Given the description of an element on the screen output the (x, y) to click on. 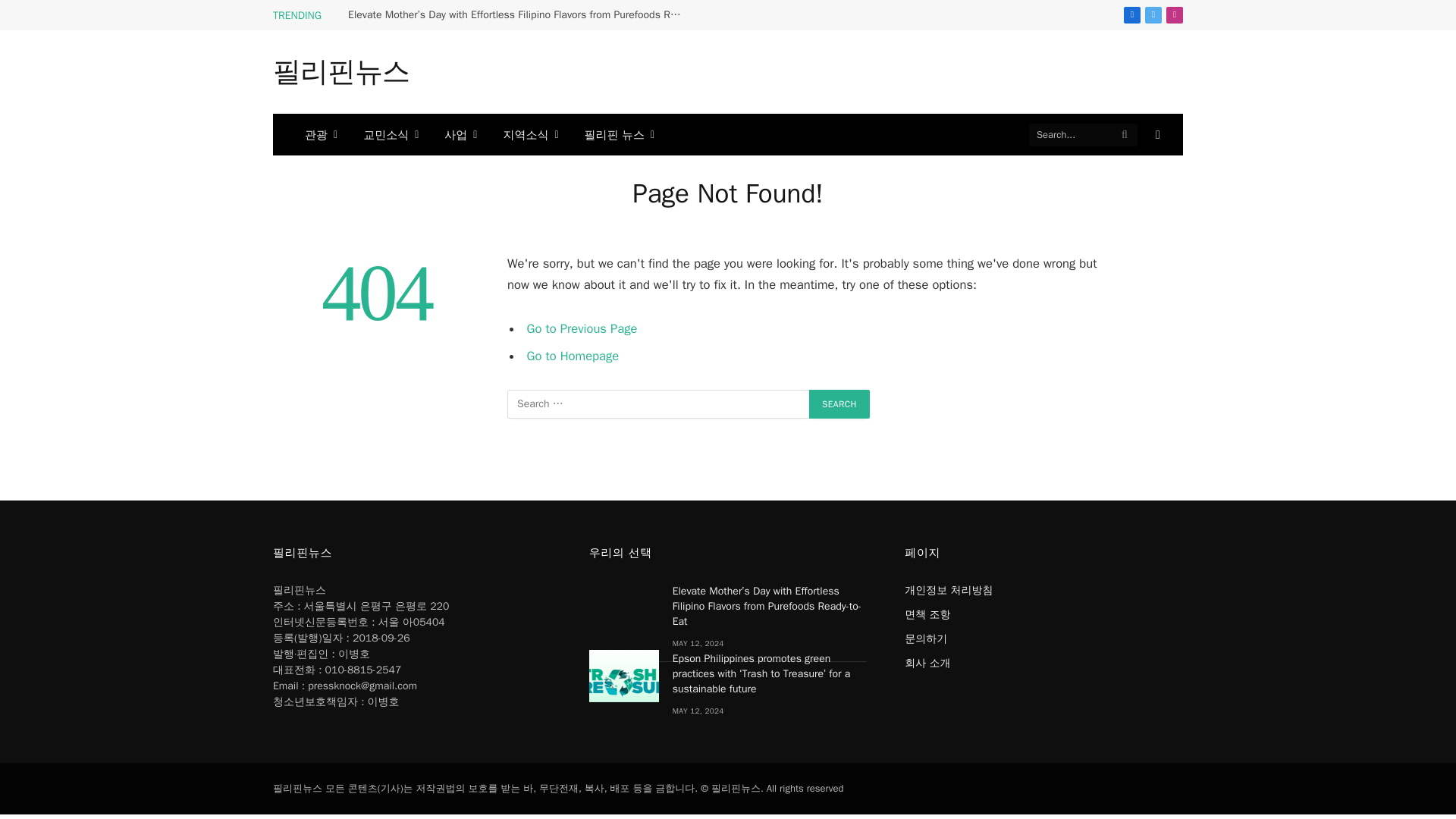
Switch to Dark Design - easier on eyes. (1155, 134)
Search (839, 403)
Search (839, 403)
Facebook (1132, 14)
Instagram (1174, 14)
